Given the description of an element on the screen output the (x, y) to click on. 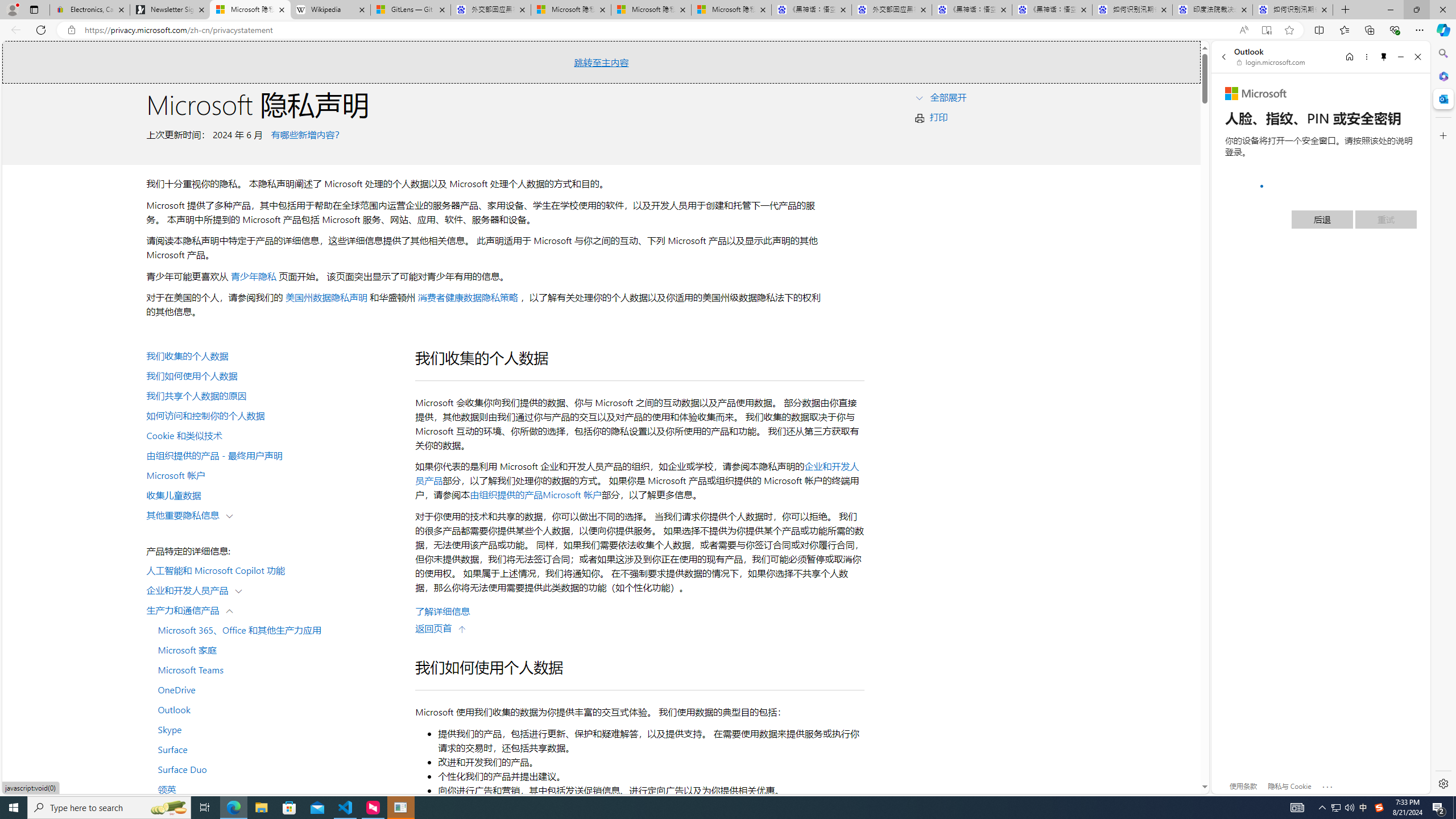
Skype (274, 728)
OneDrive (274, 689)
